Given the description of an element on the screen output the (x, y) to click on. 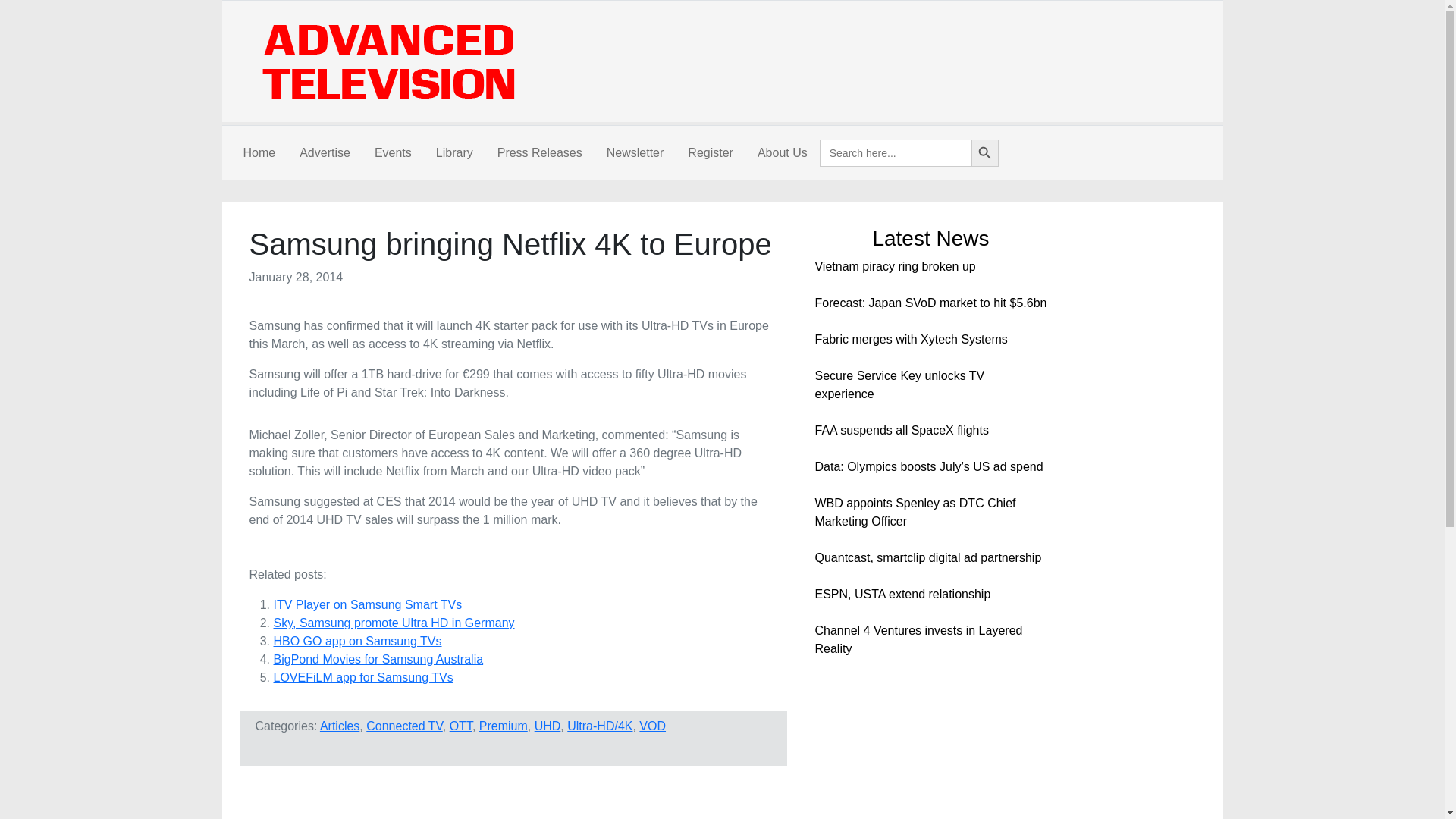
WBD appoints Spenley as DTC Chief Marketing Officer (913, 511)
ITV Player on Samsung Smart TVs (367, 604)
Newsletter (635, 153)
Search Button (984, 153)
Connected TV (404, 725)
Secure Service Key unlocks TV experience (898, 384)
Press Releases (539, 153)
VOD (652, 725)
Library (453, 153)
HBO GO app on Samsung TVs (357, 640)
